Given the description of an element on the screen output the (x, y) to click on. 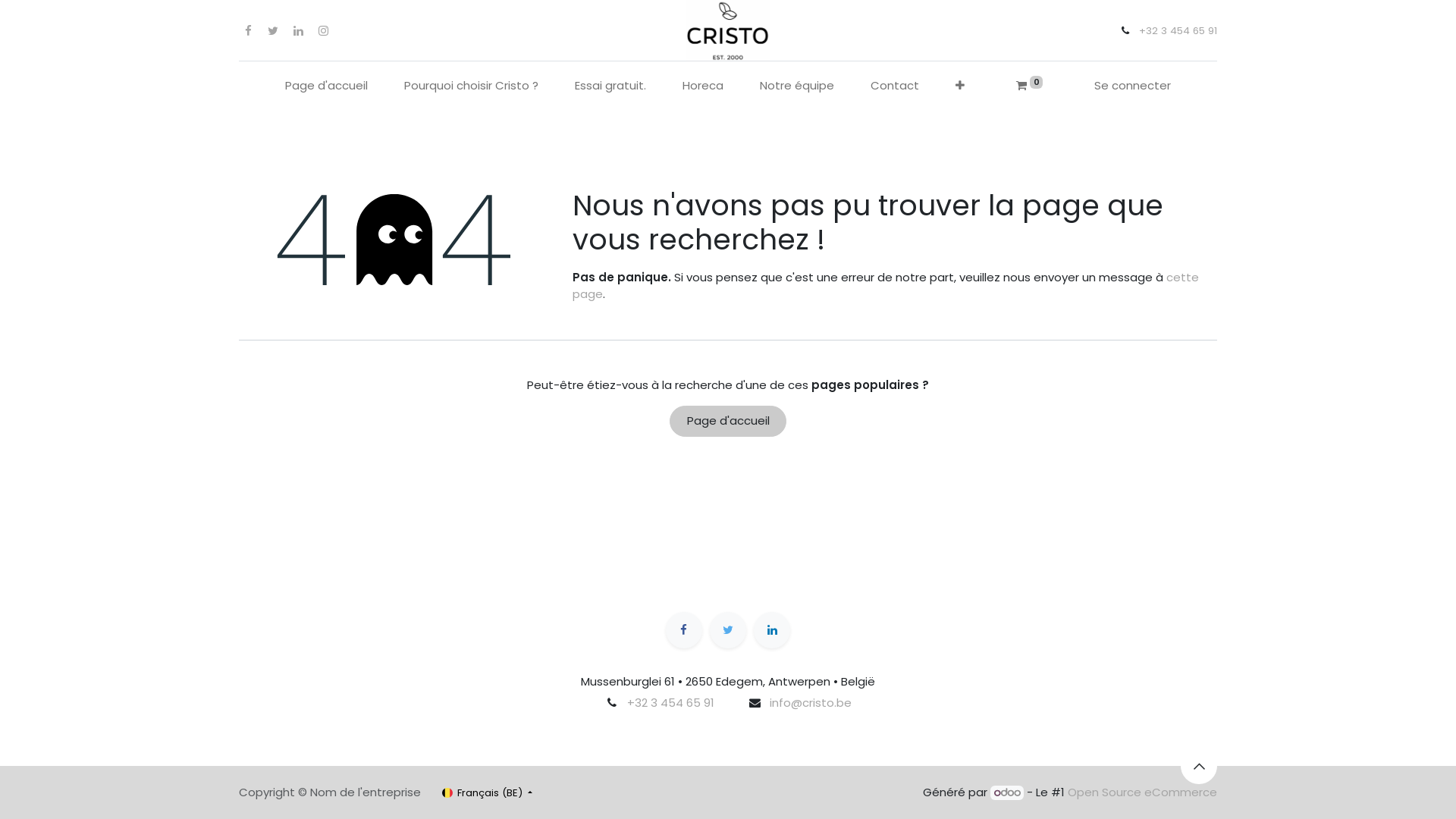
Cristo - Algemeen Element type: hover (727, 30)
info@cristo.be Element type: text (810, 702)
Horeca Element type: text (702, 85)
Contact Element type: text (894, 85)
0 Element type: text (1028, 85)
Se connecter Element type: text (1132, 85)
Page d'accueil Element type: text (727, 420)
Page d'accueil Element type: text (325, 85)
cette page Element type: text (885, 284)
Essai gratuit. Element type: text (610, 85)
Pourquoi choisir Cristo ? Element type: text (470, 85)
Open Source eCommerce Element type: text (1142, 792)
